Given the description of an element on the screen output the (x, y) to click on. 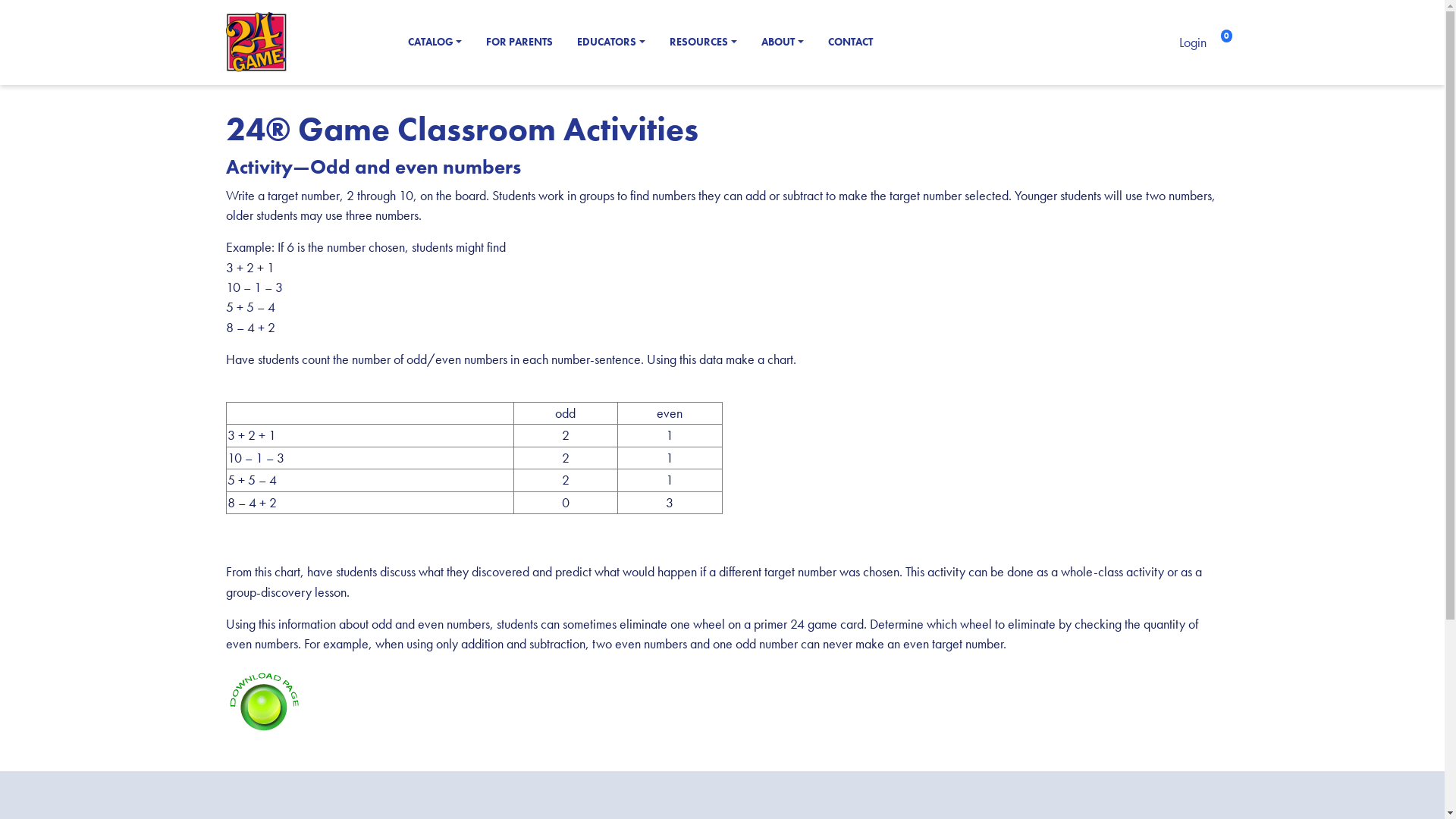
EDUCATORS Element type: text (610, 42)
CATALOG Element type: text (434, 42)
Login Element type: text (1192, 42)
RESOURCES Element type: text (703, 42)
ABOUT Element type: text (782, 42)
CONTACT Element type: text (849, 42)
FOR PARENTS Element type: text (518, 42)
